Given the description of an element on the screen output the (x, y) to click on. 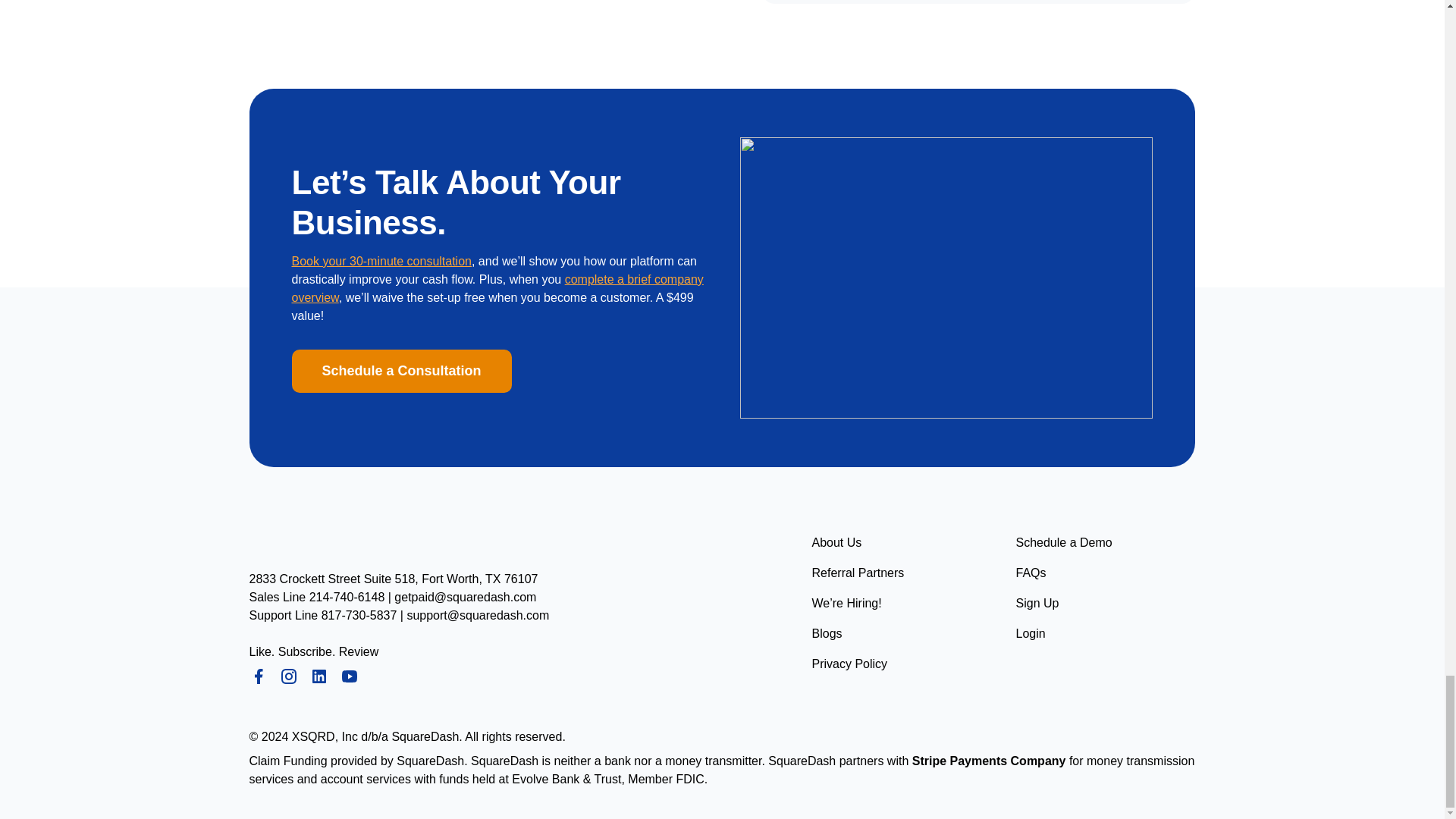
Schedule a Consultation (401, 371)
214-740-6148 (346, 596)
817-730-583 (355, 615)
Blogs (825, 633)
Referral Partners (857, 573)
Sign Up (1037, 603)
Book your 30-minute consultation (380, 260)
Privacy Policy (848, 664)
About Us (835, 542)
Login (1030, 633)
Schedule a Demo (1064, 542)
FAQs (1031, 573)
complete a brief company overview (497, 287)
